Given the description of an element on the screen output the (x, y) to click on. 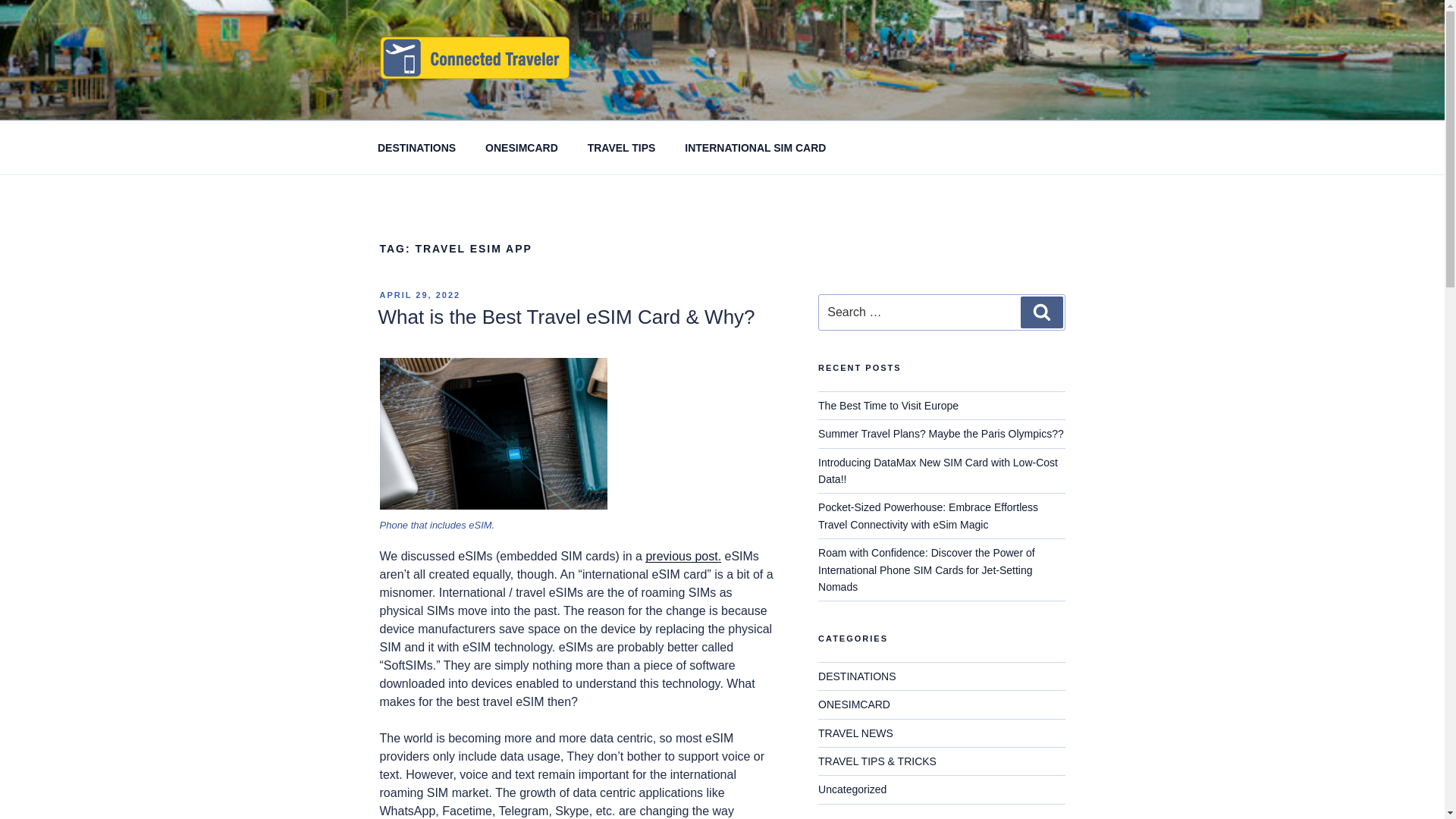
Search (1041, 312)
TRAVEL NEWS (855, 733)
APRIL 29, 2022 (419, 294)
TRAVEL TIPS (620, 147)
Summer Travel Plans? Maybe the Paris Olympics?? (941, 433)
INTERNATIONAL SIM CARD (755, 147)
previous post. (682, 555)
DESTINATIONS (856, 676)
ONESIMCARD (521, 147)
The Best Time to Visit Europe (888, 405)
Uncategorized (852, 788)
DESTINATIONS (416, 147)
Introducing DataMax New SIM Card with Low-Cost Data!! (938, 470)
ONESIMCARD (853, 704)
